Given the description of an element on the screen output the (x, y) to click on. 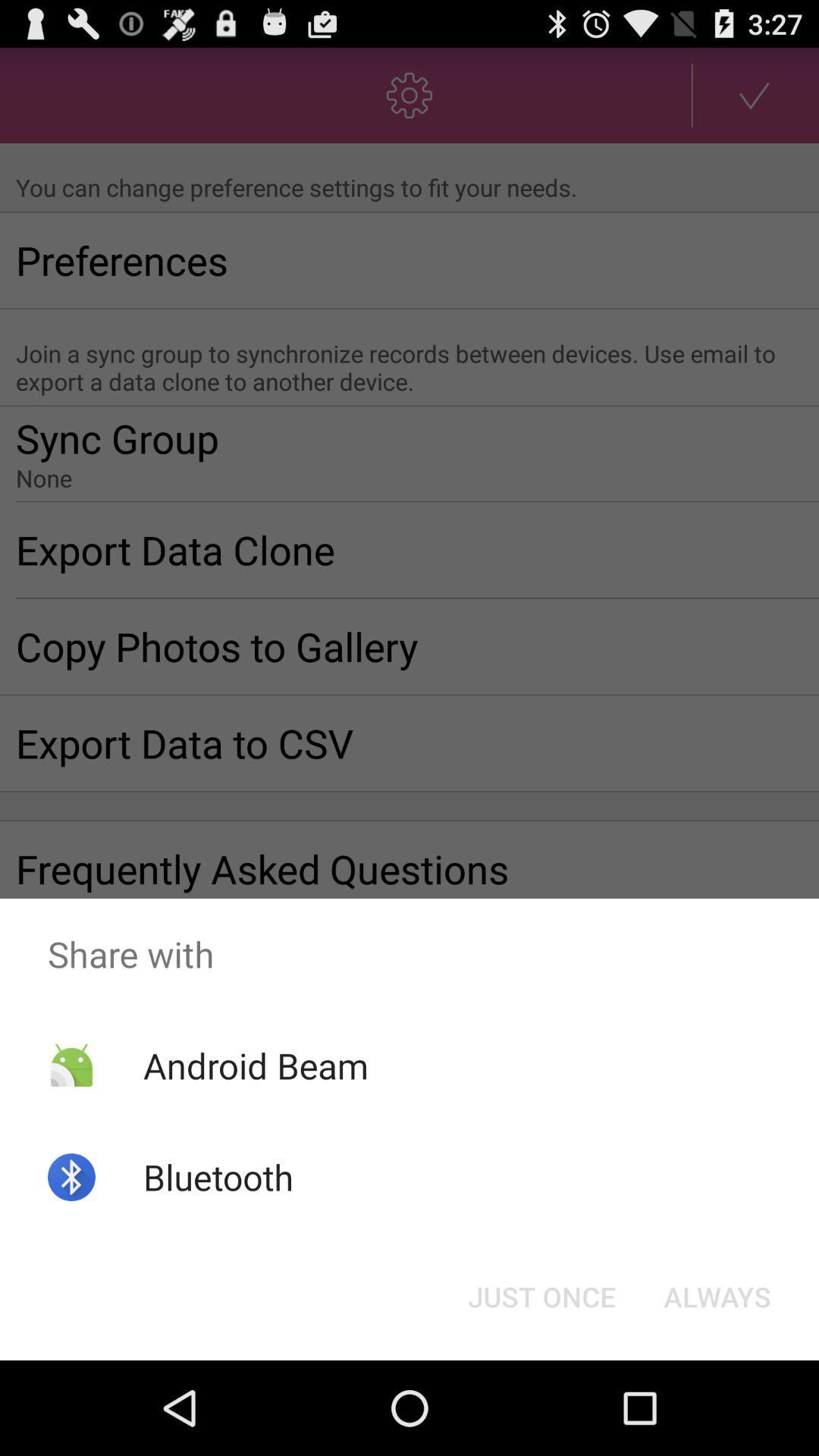
open the always at the bottom right corner (717, 1296)
